Given the description of an element on the screen output the (x, y) to click on. 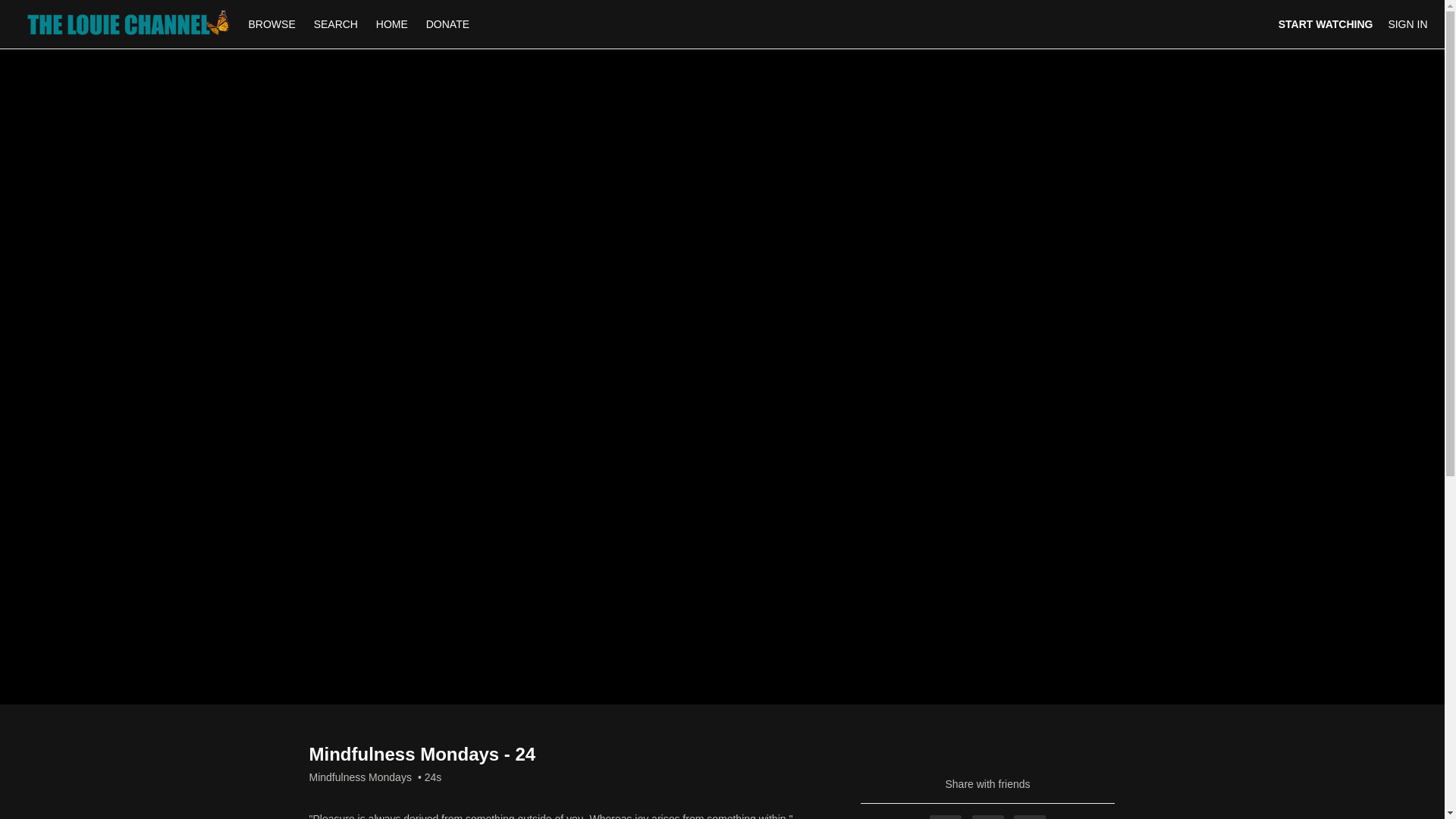
SIGN IN (1406, 24)
DONATE (448, 24)
SEARCH (336, 24)
Facebook (945, 816)
HOME (391, 24)
Email (1029, 816)
BROWSE (273, 24)
Twitter (988, 816)
Mindfulness Mondays (360, 776)
START WATCHING (1325, 24)
Skip to main content (48, 7)
